Given the description of an element on the screen output the (x, y) to click on. 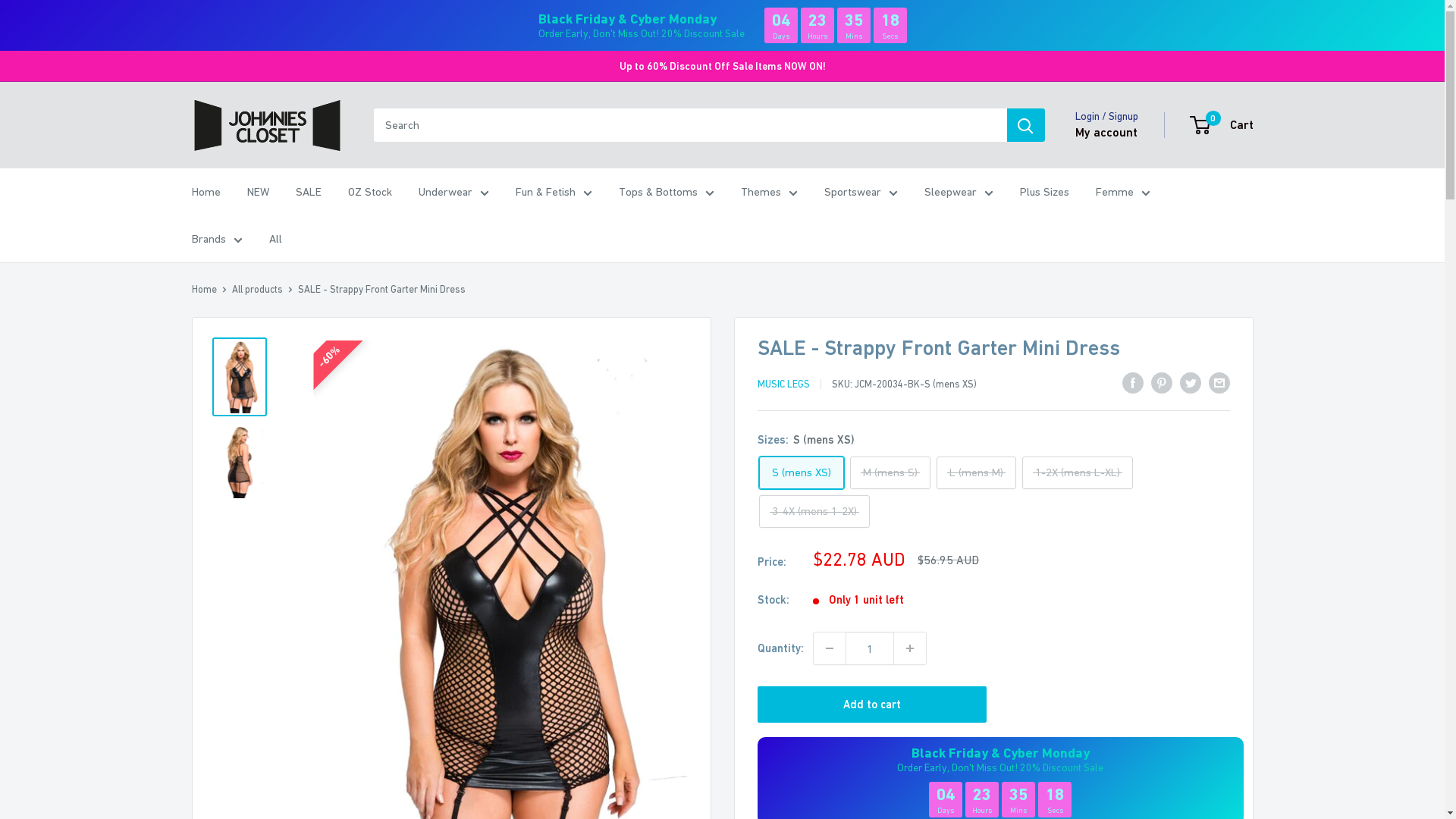
0
Cart Element type: text (1221, 124)
MUSIC LEGS Element type: text (782, 383)
Up to 60% Discount Off Sale Items NOW ON! Element type: text (721, 65)
Increase quantity by 1 Element type: hover (909, 648)
Plus Sizes Element type: text (1043, 191)
OZ Stock Element type: text (369, 191)
Brands Element type: text (216, 238)
Fun & Fetish Element type: text (553, 191)
Add to cart Element type: text (871, 704)
Underwear Element type: text (453, 191)
Johnnies Closet Element type: text (266, 125)
Tops & Bottoms Element type: text (666, 191)
Femme Element type: text (1122, 191)
NEW Element type: text (258, 191)
Home Element type: text (205, 191)
Home Element type: text (203, 288)
All products Element type: text (257, 288)
SALE Element type: text (308, 191)
My account Element type: text (1106, 132)
Sportswear Element type: text (860, 191)
Themes Element type: text (768, 191)
All Element type: text (274, 238)
Decrease quantity by 1 Element type: hover (828, 648)
Sleepwear Element type: text (957, 191)
